Given the description of an element on the screen output the (x, y) to click on. 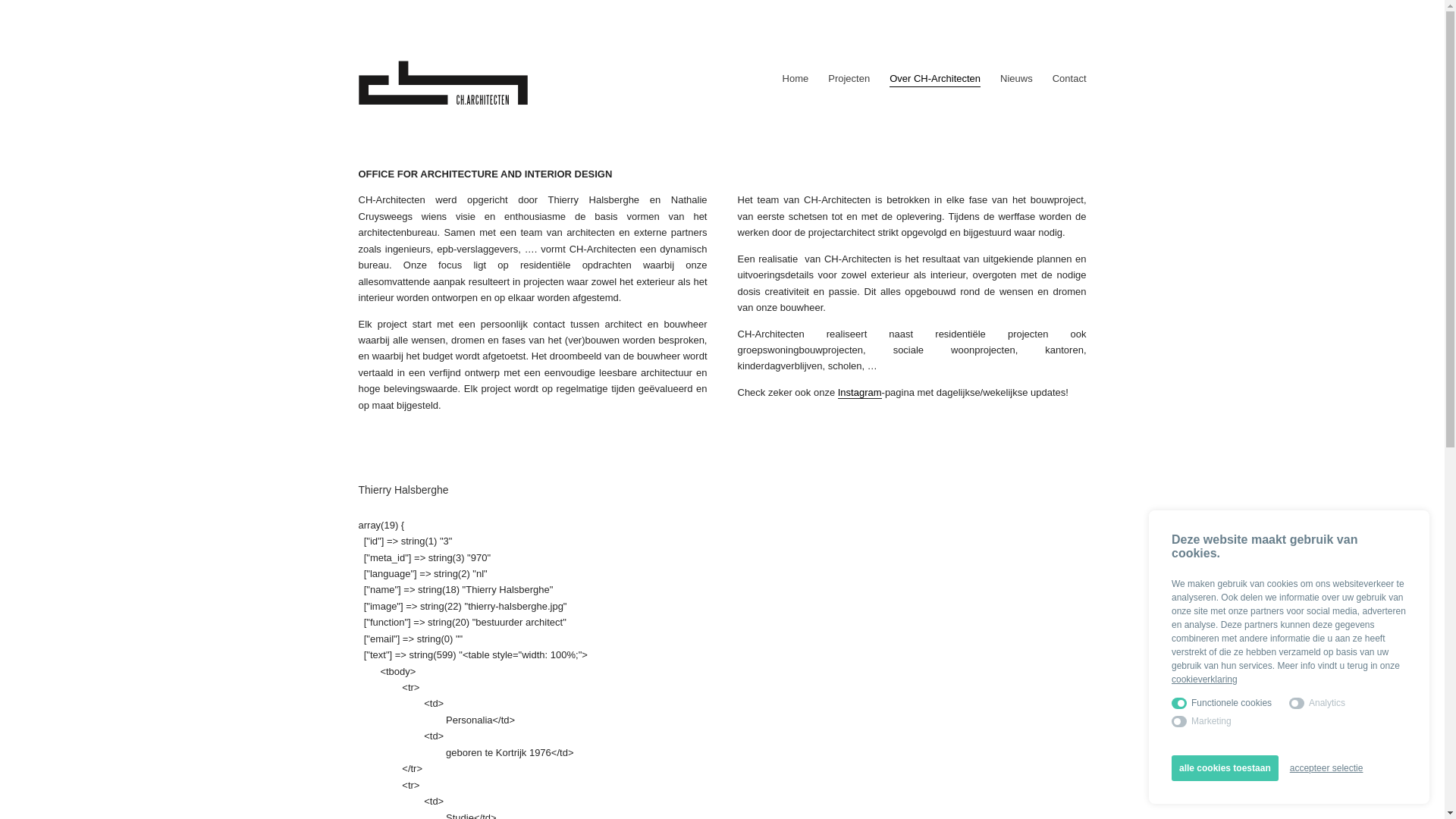
cookieverklaring Element type: text (1204, 679)
alle cookies toestaan Element type: text (1224, 768)
Projecten Element type: text (848, 78)
Over CH-Architecten Element type: text (934, 78)
Contact Element type: text (1069, 78)
Nieuws Element type: text (1016, 78)
CH Architecten Element type: text (442, 82)
Instagram Element type: text (859, 392)
accepteer selectie Element type: text (1326, 768)
Home Element type: text (795, 78)
